Given the description of an element on the screen output the (x, y) to click on. 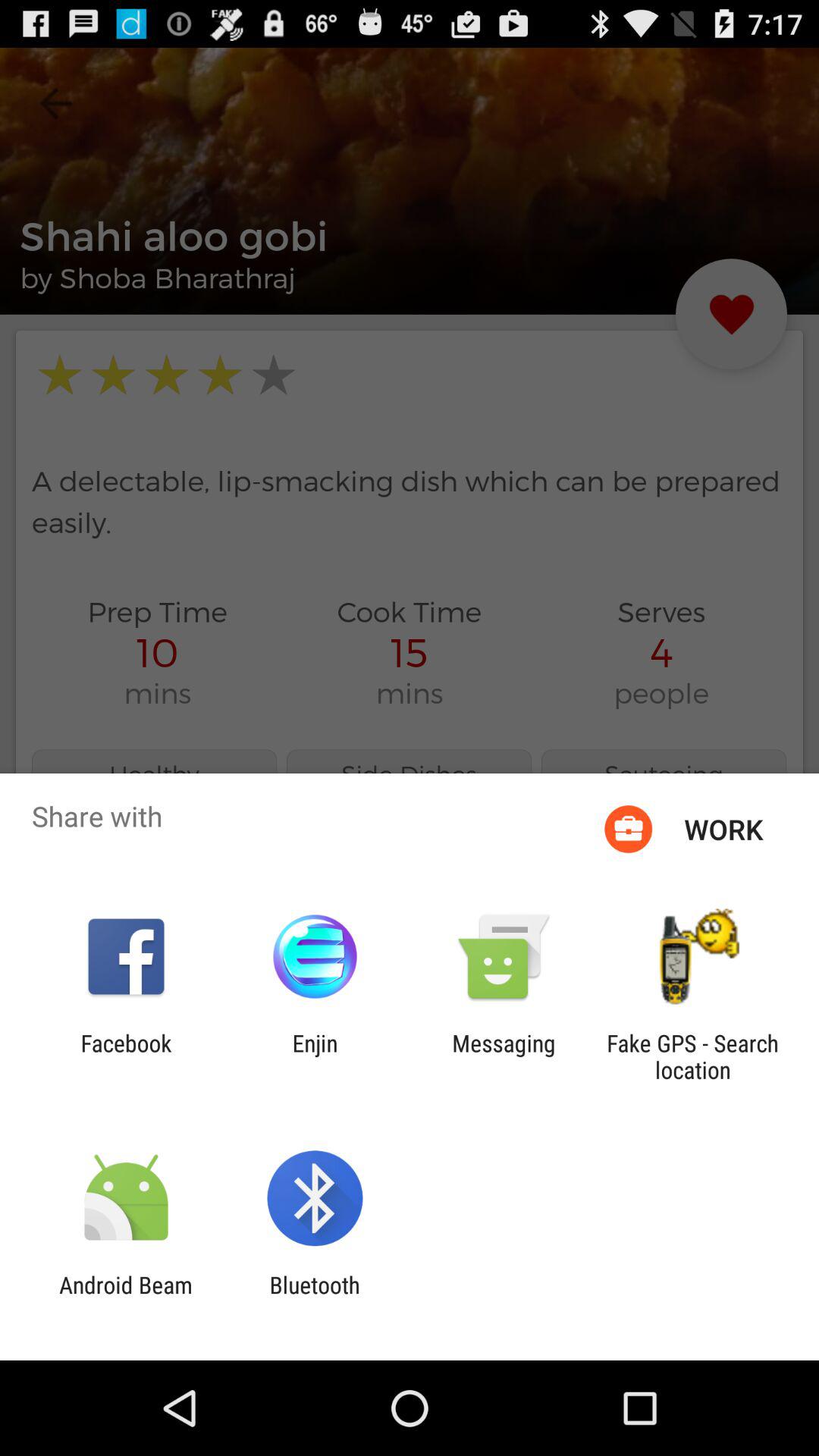
swipe until the bluetooth item (314, 1298)
